Given the description of an element on the screen output the (x, y) to click on. 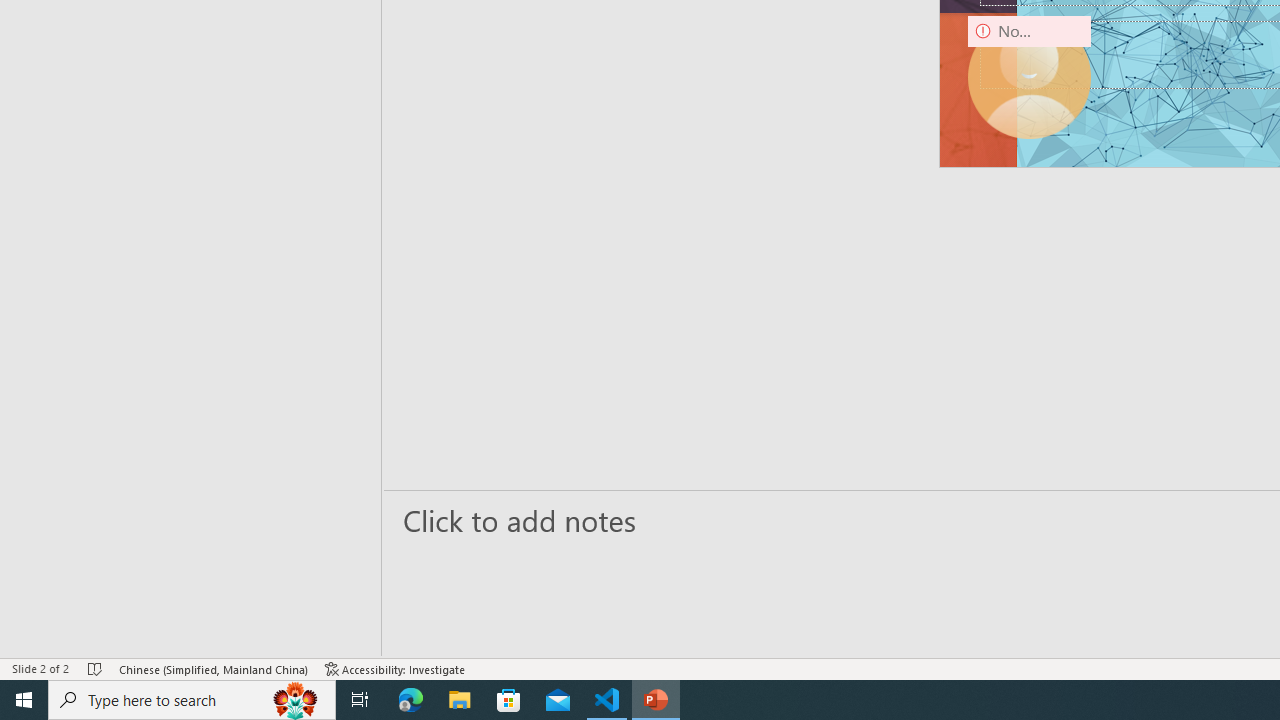
Camera 9, No camera detected. (1029, 77)
